Given the description of an element on the screen output the (x, y) to click on. 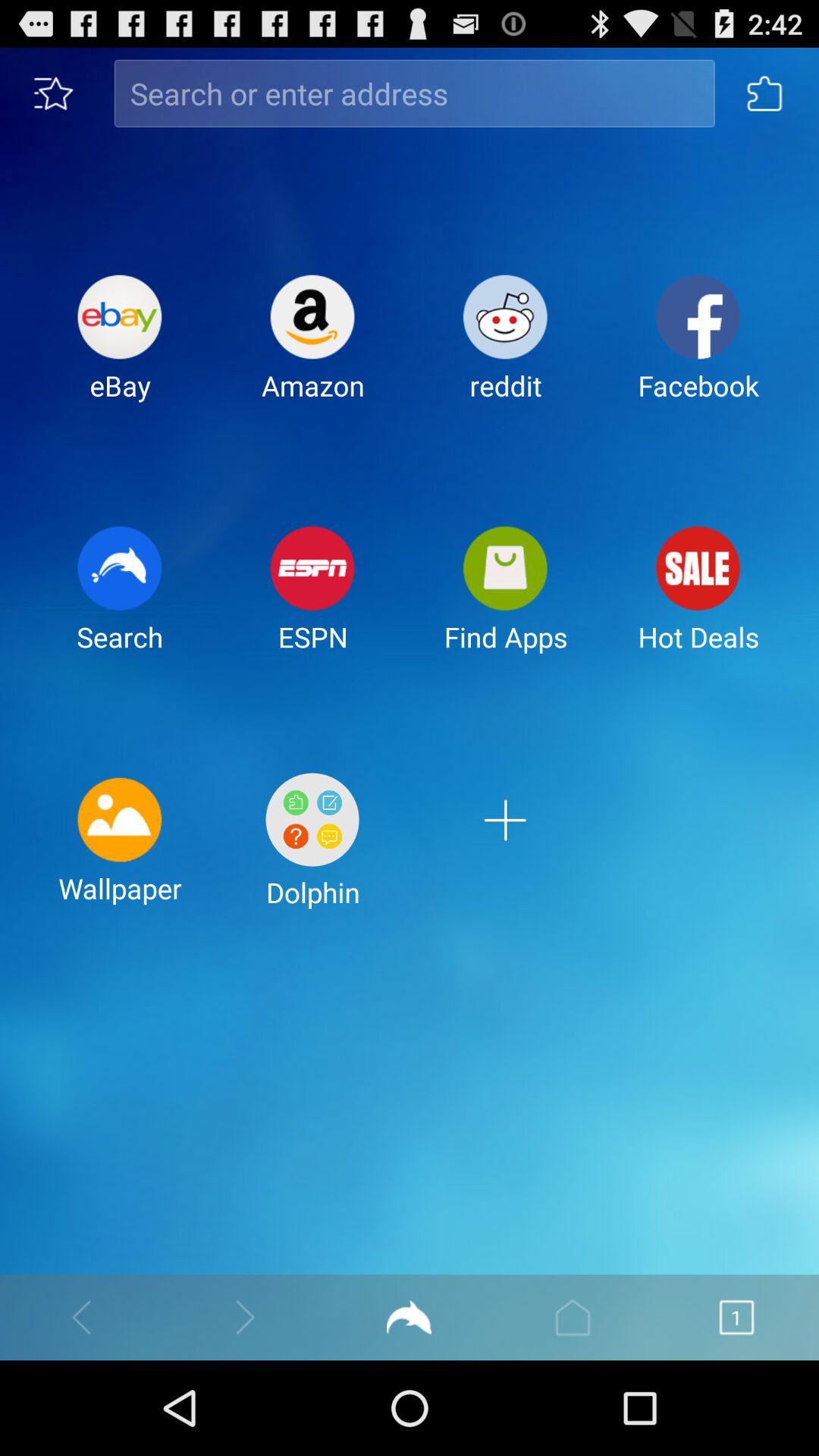
tap the icon next to the find apps item (312, 601)
